Given the description of an element on the screen output the (x, y) to click on. 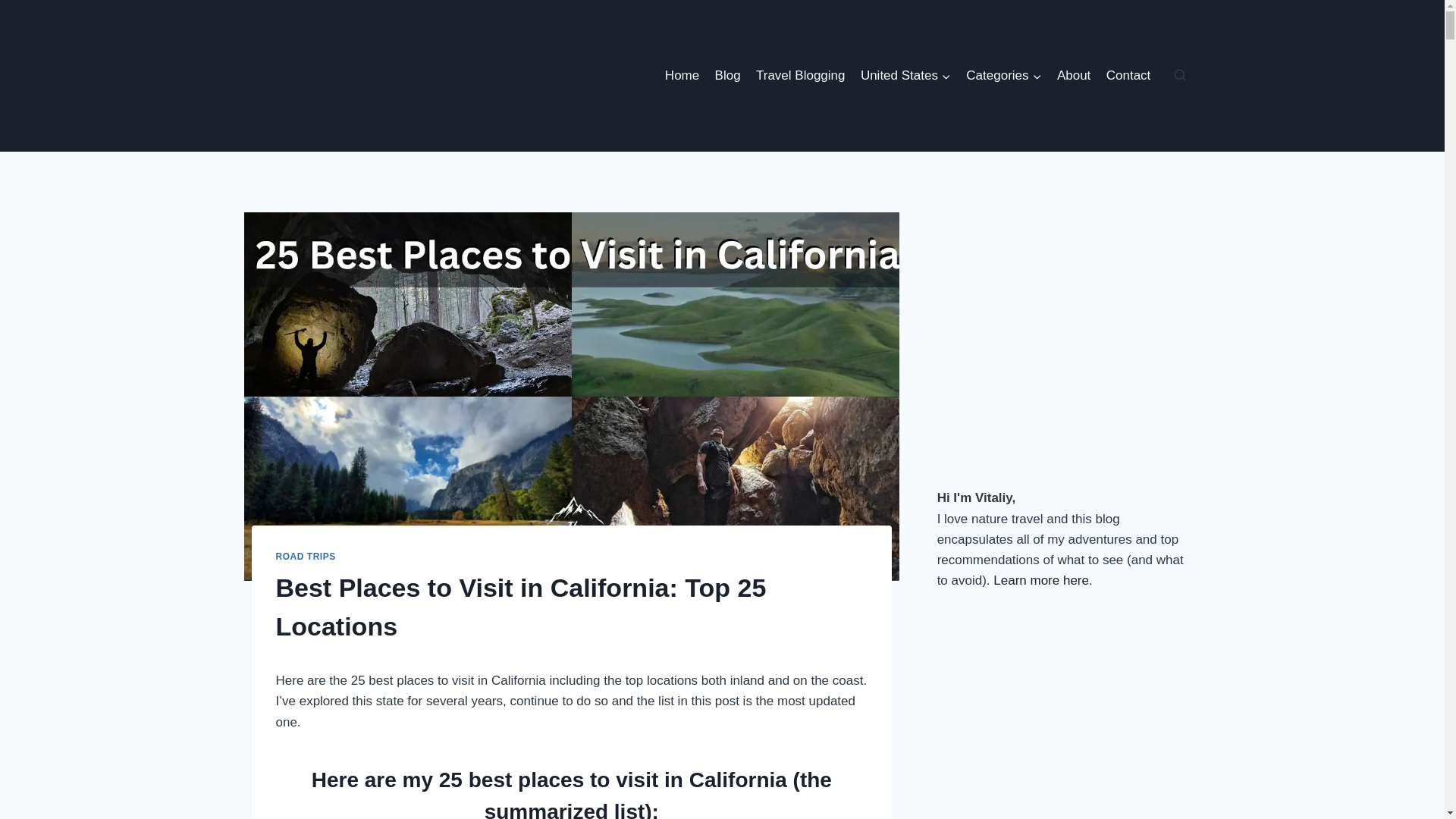
About (1074, 75)
United States Nature Seeker Guide (905, 75)
Categories (1003, 75)
ROAD TRIPS (306, 556)
The Nature Seeker Blog Post (727, 75)
Blog (727, 75)
Travel Blogging (800, 75)
United States (905, 75)
Contact (1128, 75)
Home (682, 75)
